Given the description of an element on the screen output the (x, y) to click on. 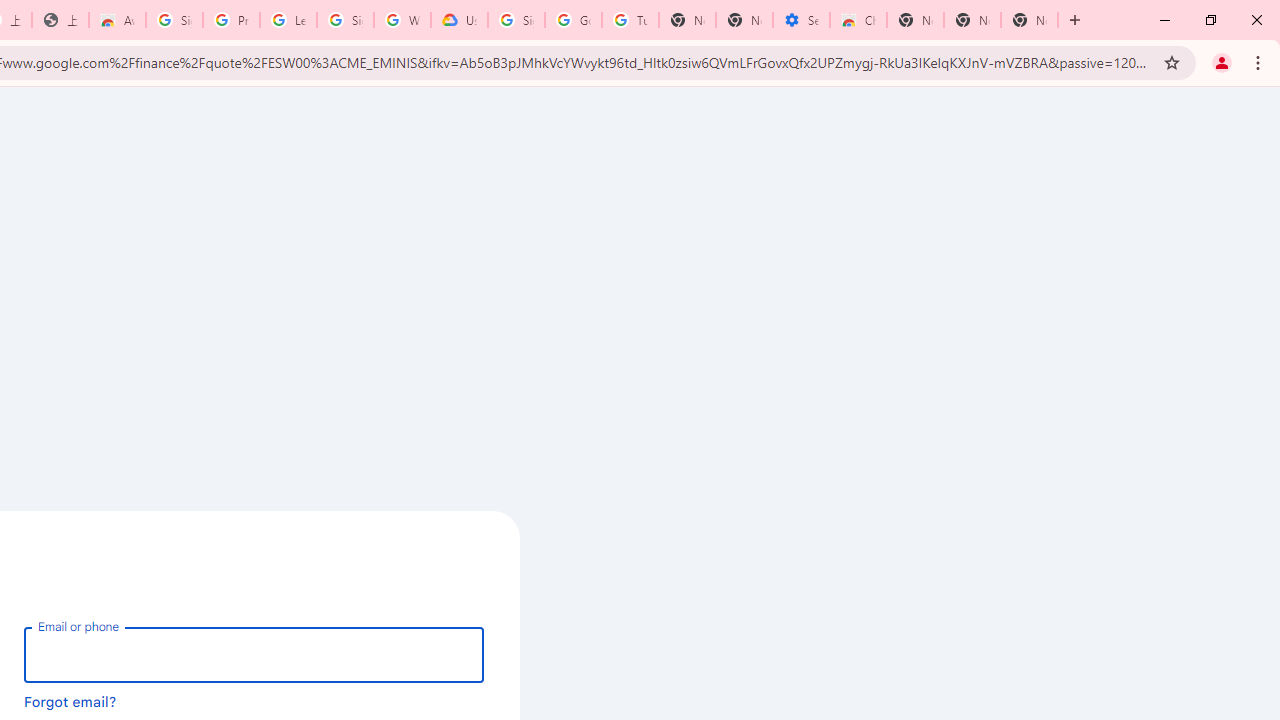
Sign in - Google Accounts (345, 20)
Google Account Help (573, 20)
New Tab (1029, 20)
Email or phone (253, 654)
Who are Google's partners? - Privacy and conditions - Google (402, 20)
